Given the description of an element on the screen output the (x, y) to click on. 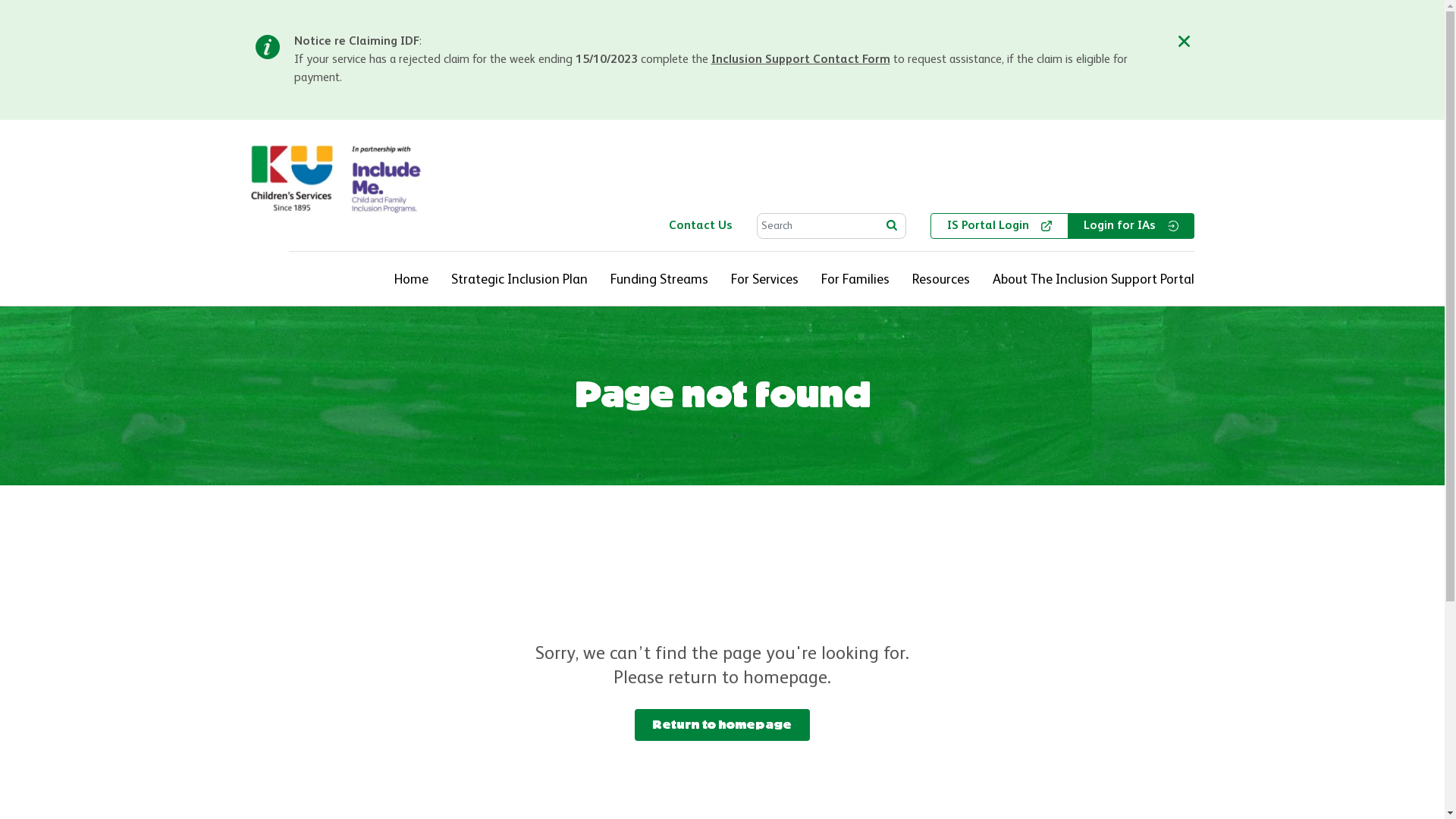
IS Portal Login Element type: text (998, 225)
Search Element type: text (890, 225)
Login for IAs Element type: text (1130, 225)
About The Inclusion Support Portal Element type: text (1092, 279)
For Families Element type: text (854, 279)
Return to homepage Element type: text (721, 724)
Resources Element type: text (940, 279)
Funding Streams Element type: text (658, 279)
For Services Element type: text (764, 279)
Strategic Inclusion Plan Element type: text (518, 279)
Home Element type: text (411, 279)
Inclusion Support Contact Form Element type: text (800, 59)
Contact Us Element type: text (700, 225)
